Given the description of an element on the screen output the (x, y) to click on. 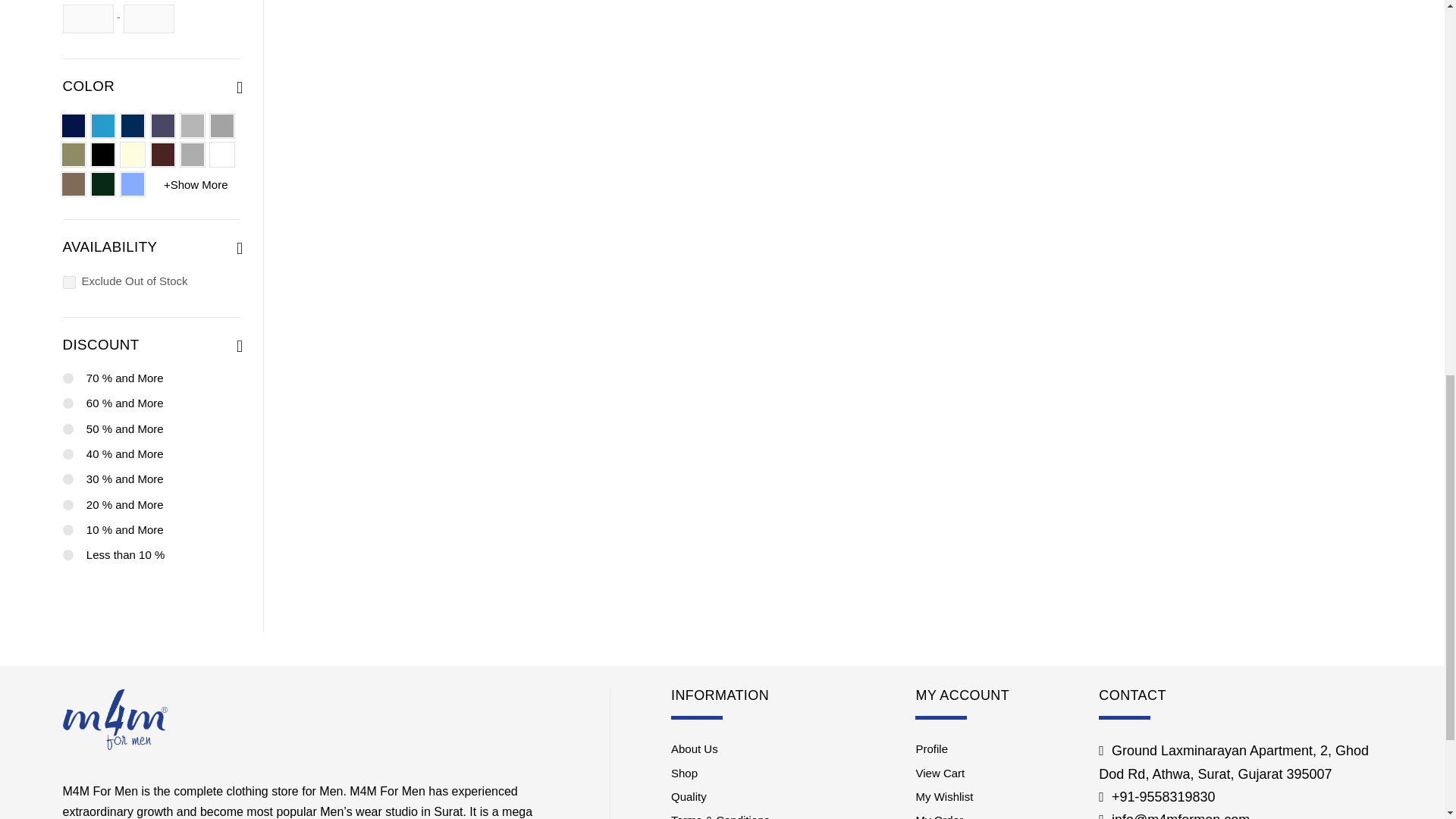
BLUE (132, 125)
GREY (221, 125)
White (221, 154)
LIGHT BROWNISH (73, 183)
dark green (103, 183)
Blueish Grey (162, 125)
Black (103, 154)
cream (132, 154)
Light Black (191, 125)
Blue shade (103, 125)
